Given the description of an element on the screen output the (x, y) to click on. 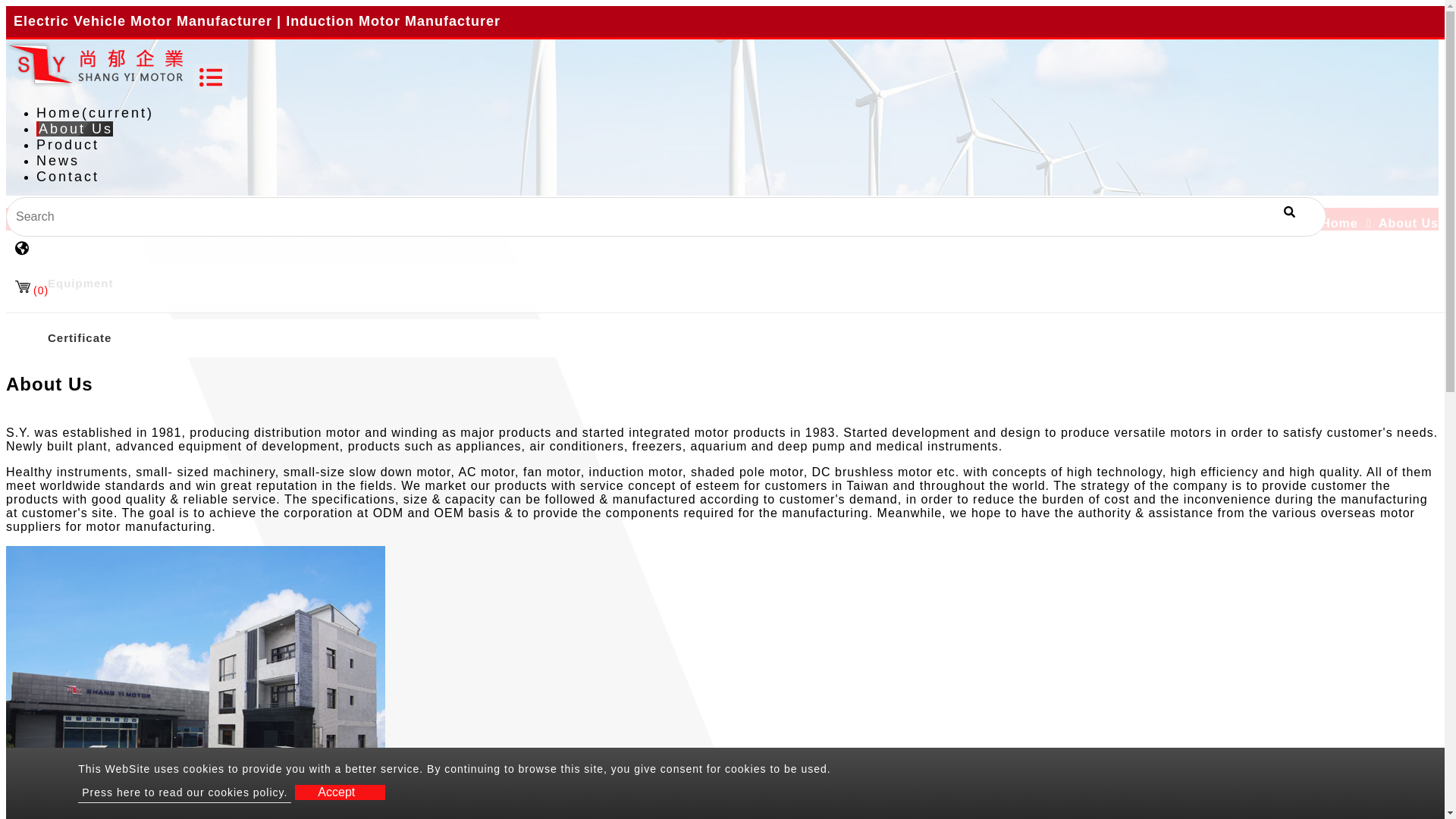
Accept (340, 792)
About Us (74, 128)
About Us (74, 128)
Shang Yi (97, 83)
Contact (67, 176)
Home (1349, 223)
Press here to read our cookies policy. (184, 792)
Product (67, 144)
Product (67, 144)
News (58, 160)
